Given the description of an element on the screen output the (x, y) to click on. 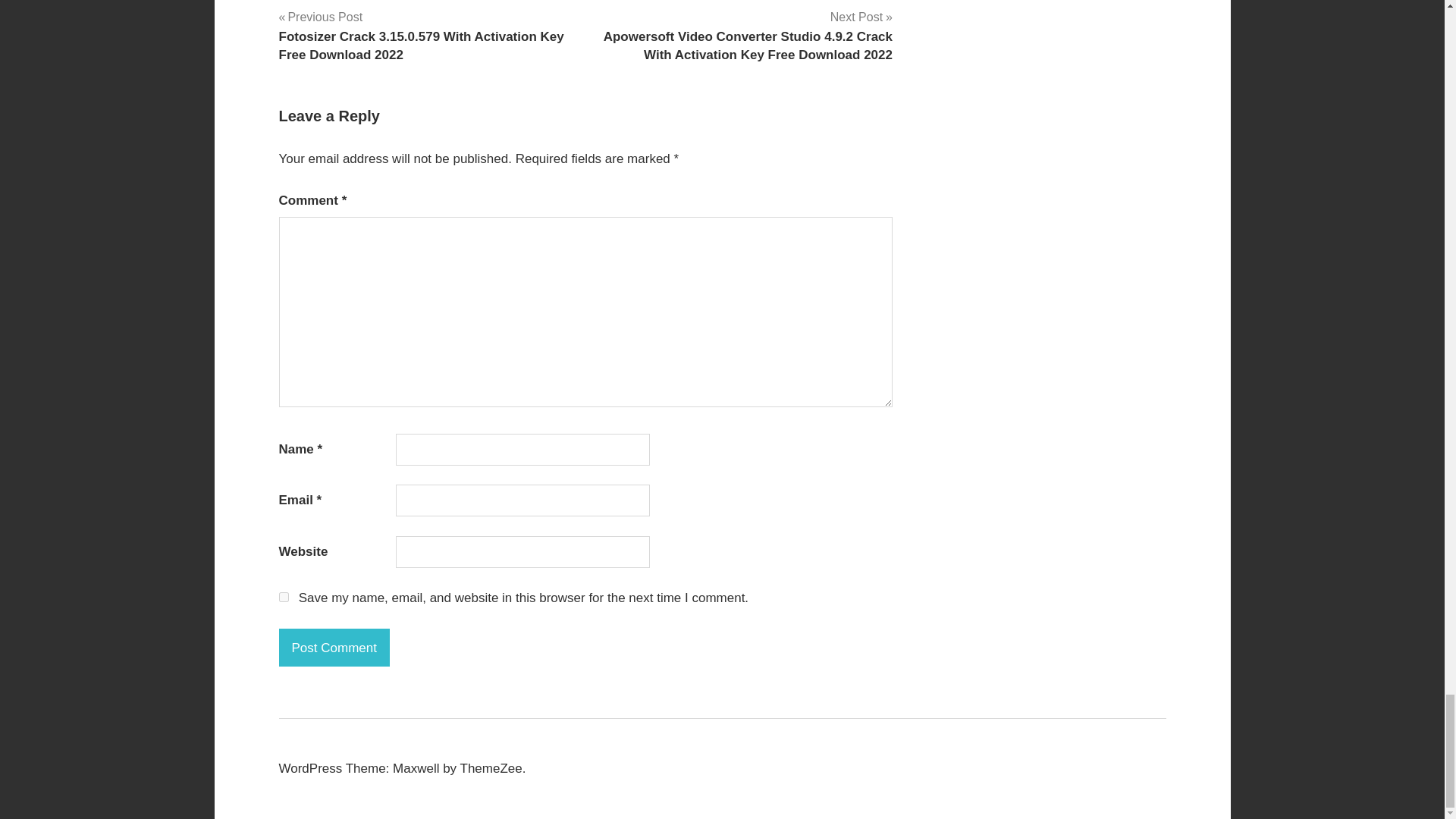
Post Comment (334, 647)
yes (283, 596)
